Given the description of an element on the screen output the (x, y) to click on. 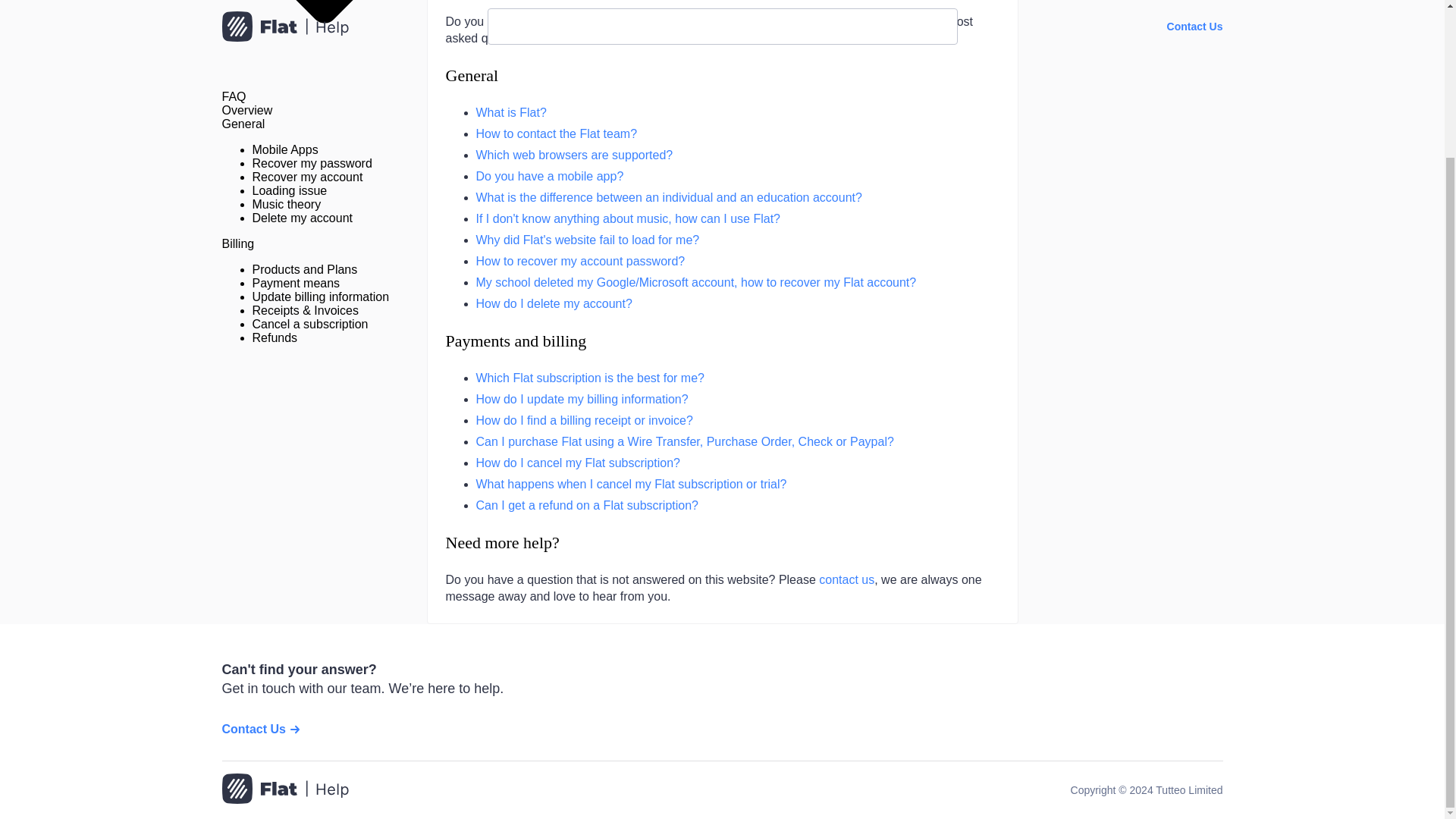
Mobile Apps (284, 149)
Need more help? (502, 542)
If I don't know anything about music, how can I use Flat? (628, 218)
Loading issue (288, 190)
Products and Plans (303, 269)
Do you have a mobile app? (550, 175)
Can I get a refund on a Flat subscription? (587, 504)
General (472, 75)
Refunds (274, 337)
Why did Flat's website fail to load for me? (588, 239)
